Given the description of an element on the screen output the (x, y) to click on. 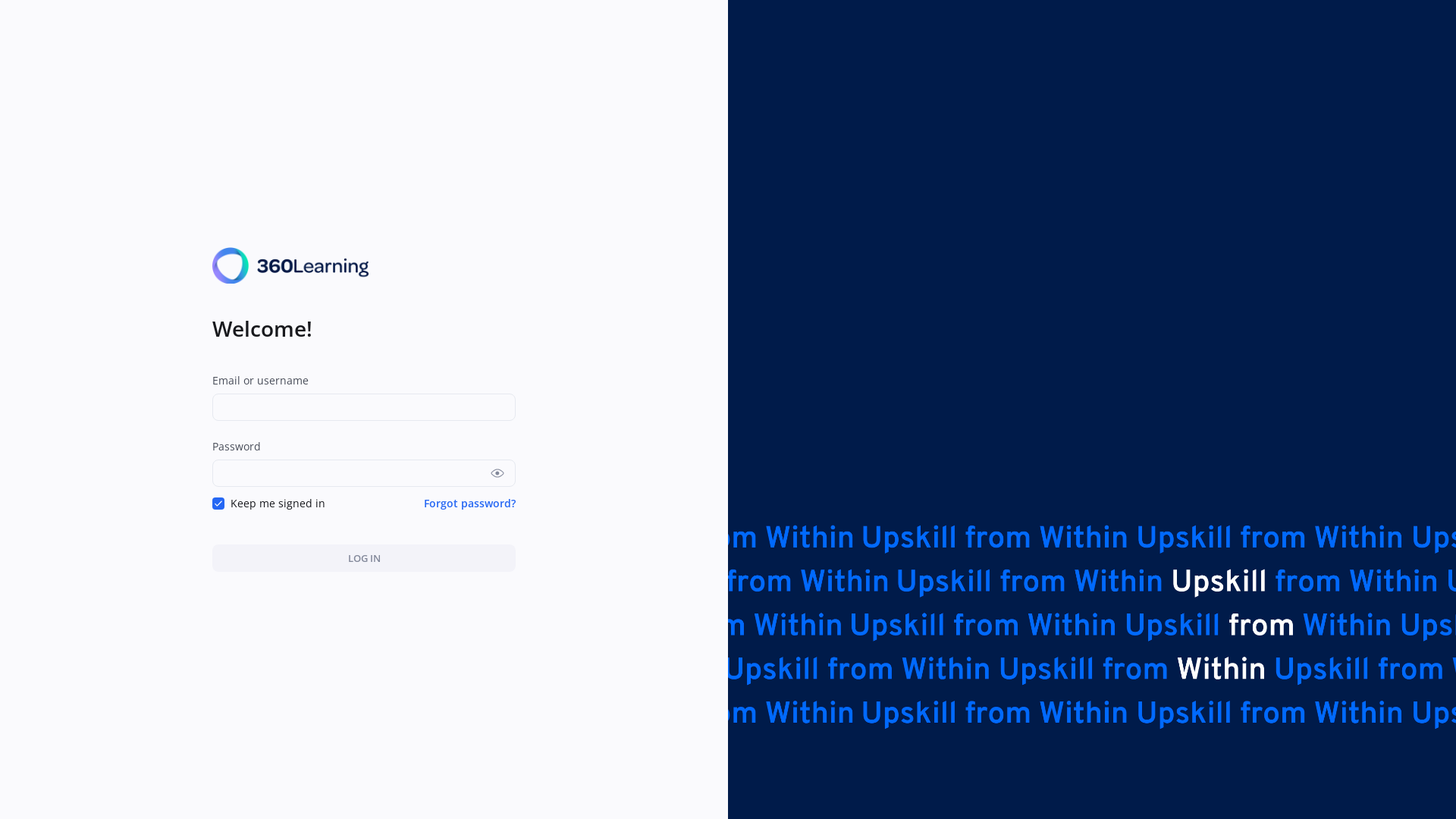
LOG IN Element type: text (363, 557)
Forgot password? Element type: text (469, 502)
